Given the description of an element on the screen output the (x, y) to click on. 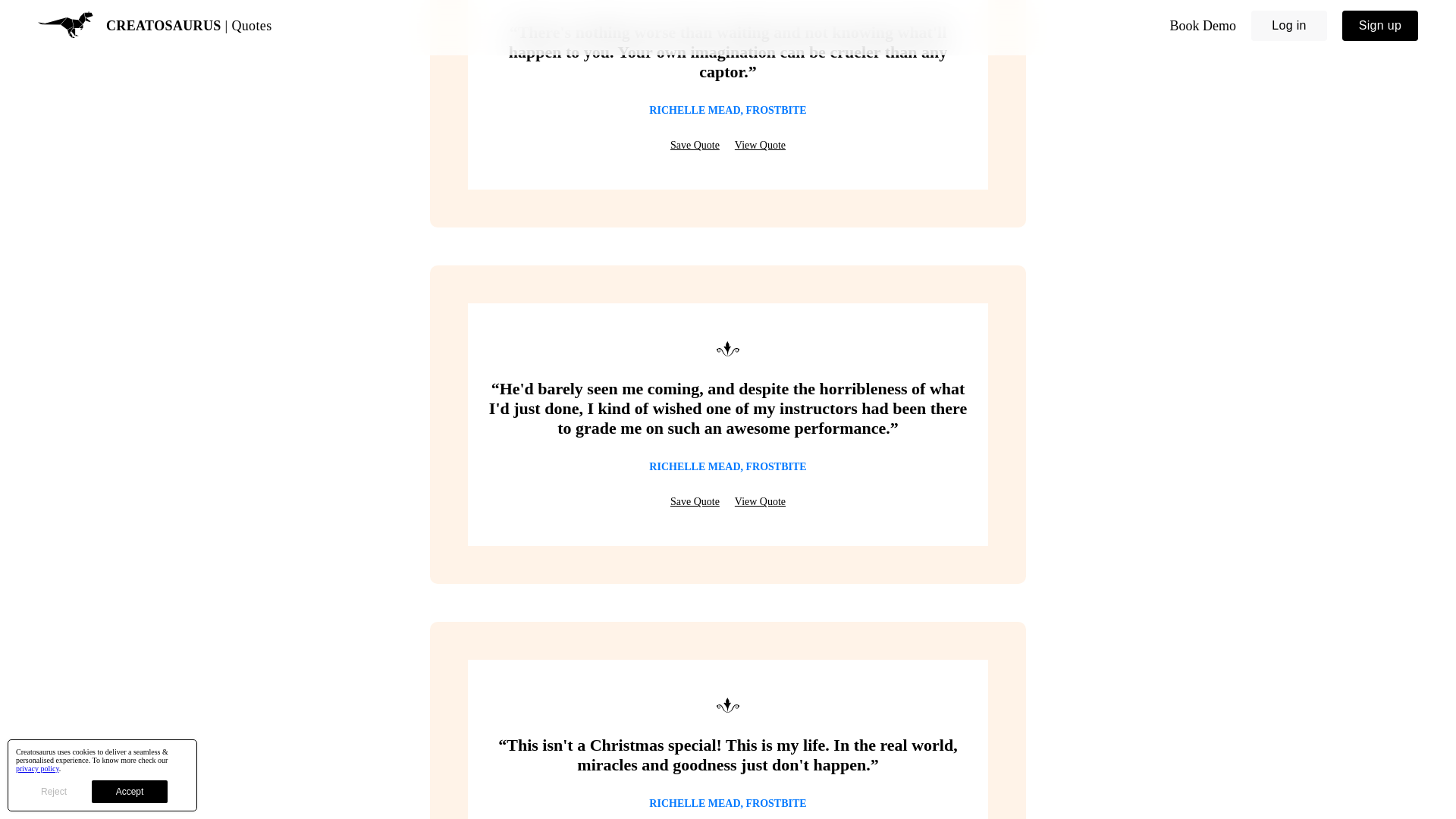
RICHELLE MEAD, FROSTBITE (727, 467)
RICHELLE MEAD, FROSTBITE (727, 803)
View Quote (760, 145)
RICHELLE MEAD, FROSTBITE (727, 110)
View Quote (760, 501)
